Given the description of an element on the screen output the (x, y) to click on. 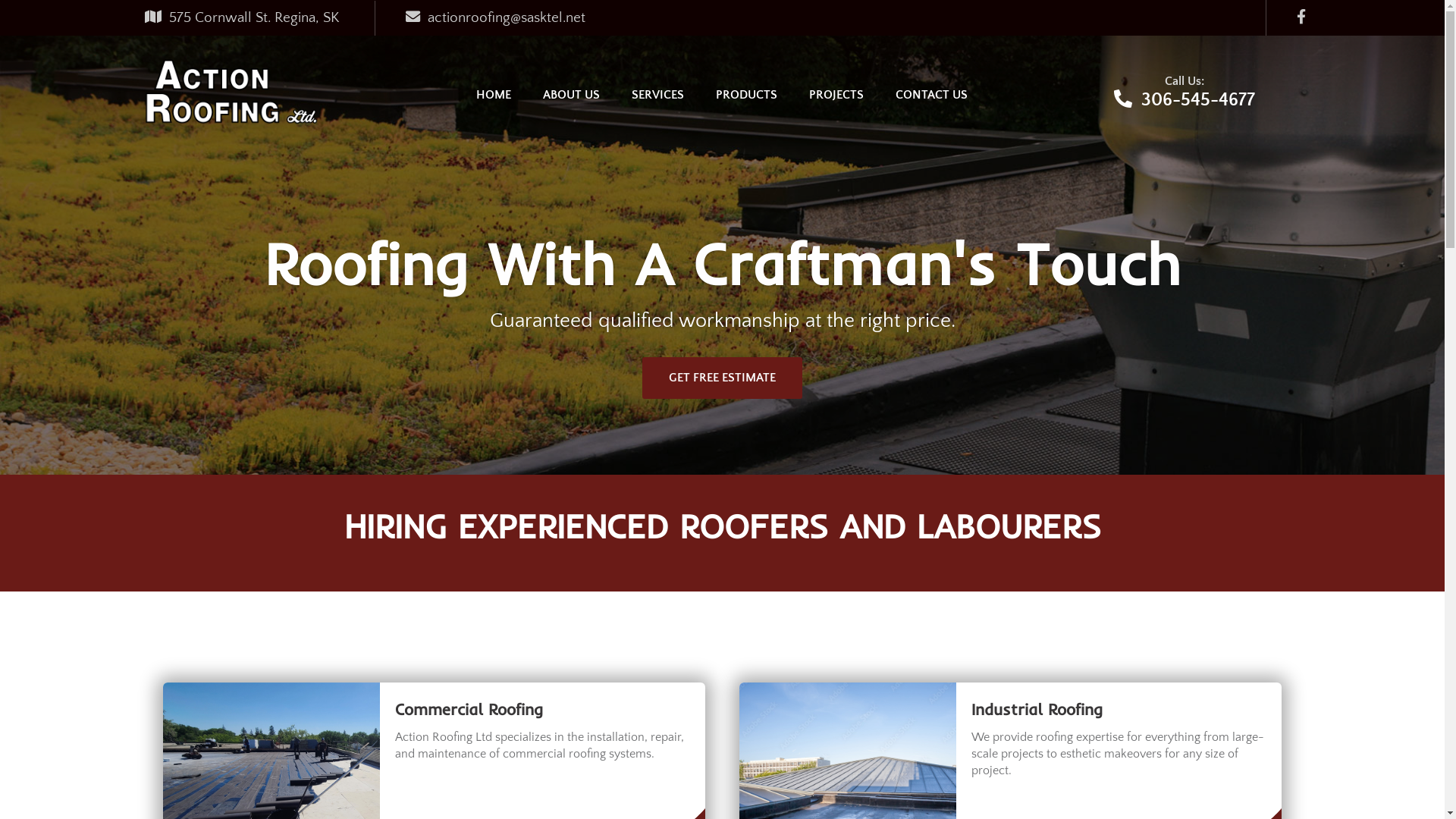
HOME Element type: text (493, 94)
actionroofing@sasktel.net Element type: text (506, 17)
PRODUCTS Element type: text (746, 94)
PROJECTS Element type: text (836, 94)
SERVICES Element type: text (657, 94)
ABOUT US Element type: text (571, 94)
306-545-4677 Element type: text (1198, 99)
placeholder-logo Element type: hover (230, 91)
Roofing With A Craftman's Touch Element type: text (721, 263)
GET FREE ESTIMATE Element type: text (722, 377)
CONTACT US Element type: text (931, 94)
